Given the description of an element on the screen output the (x, y) to click on. 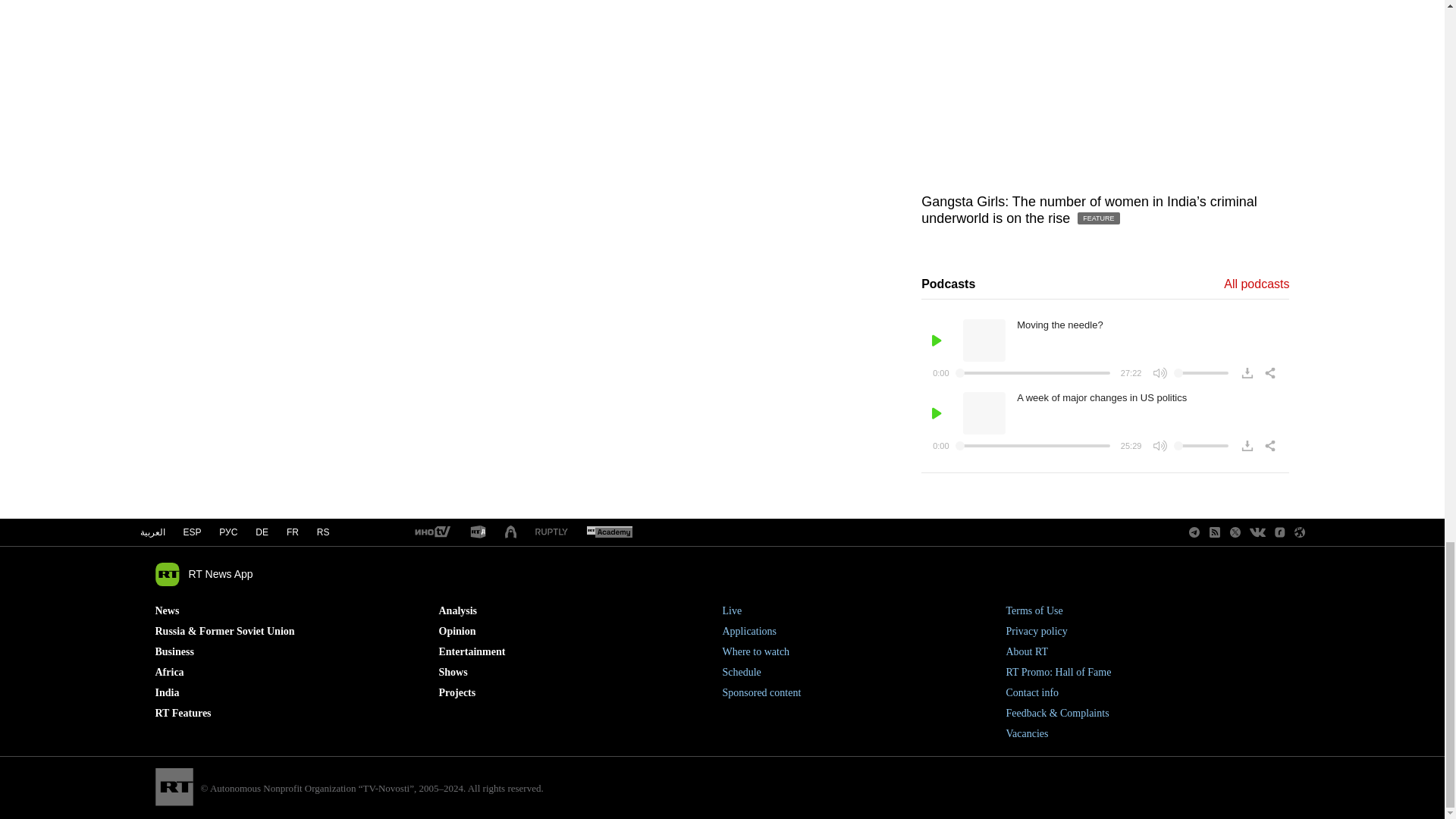
RT  (431, 532)
RT  (478, 532)
RT  (551, 532)
RT  (608, 532)
